Given the description of an element on the screen output the (x, y) to click on. 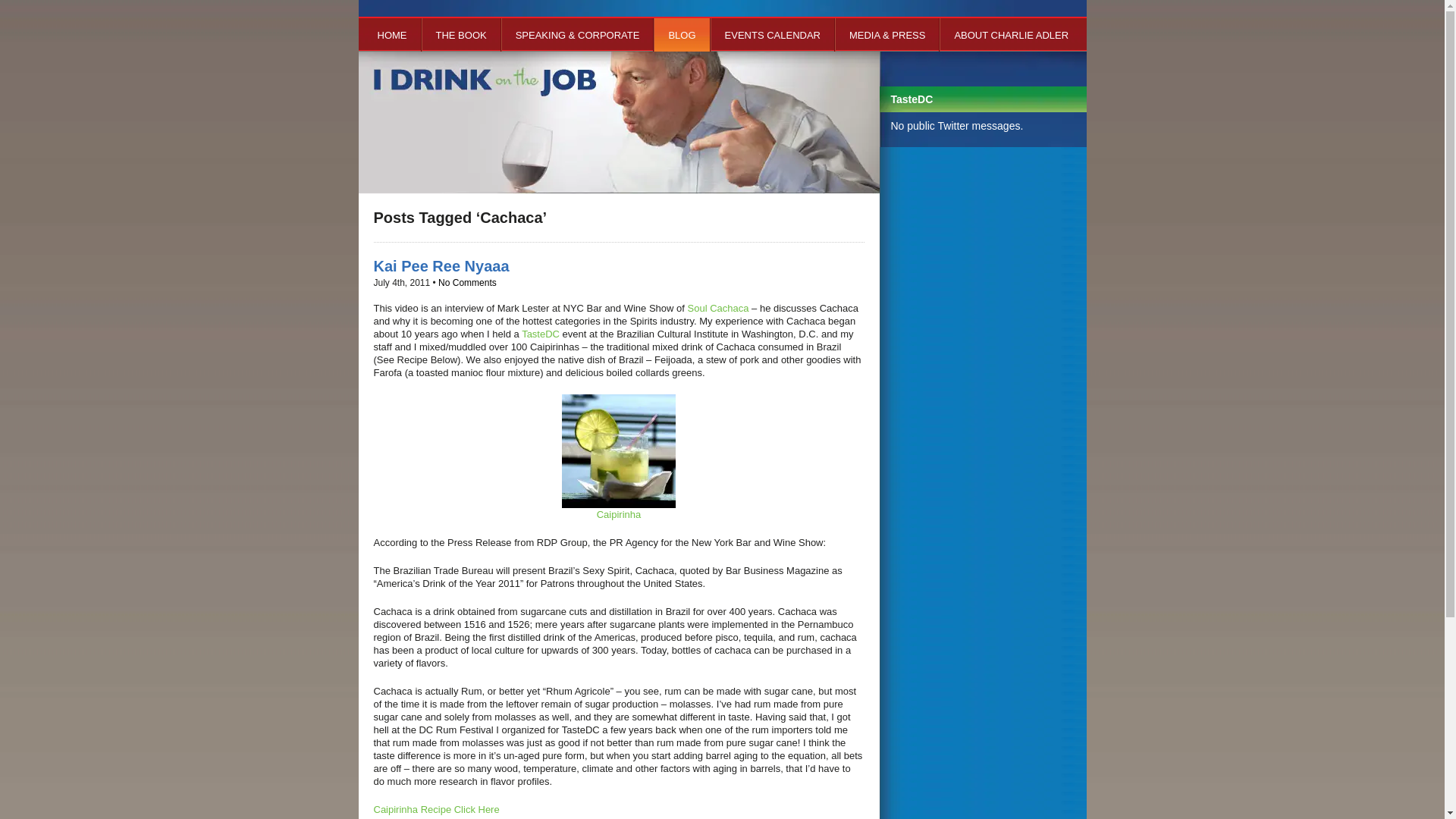
About Charlie Adler (1010, 34)
HOME (392, 34)
ABOUT CHARLIE ADLER (1010, 34)
BLOG (681, 34)
Home (392, 34)
caipirinha-8798 (618, 450)
Blog (681, 34)
THE BOOK (460, 34)
Speaking and Corporate (577, 34)
TasteDC (911, 99)
No Comments (467, 282)
Kai Pee Ree Nyaaa (440, 265)
Caipirinha Recipe Click Here (435, 808)
EVENTS CALENDAR (772, 34)
Permanent Link to Kai Pee Ree Nyaaa (440, 265)
